Given the description of an element on the screen output the (x, y) to click on. 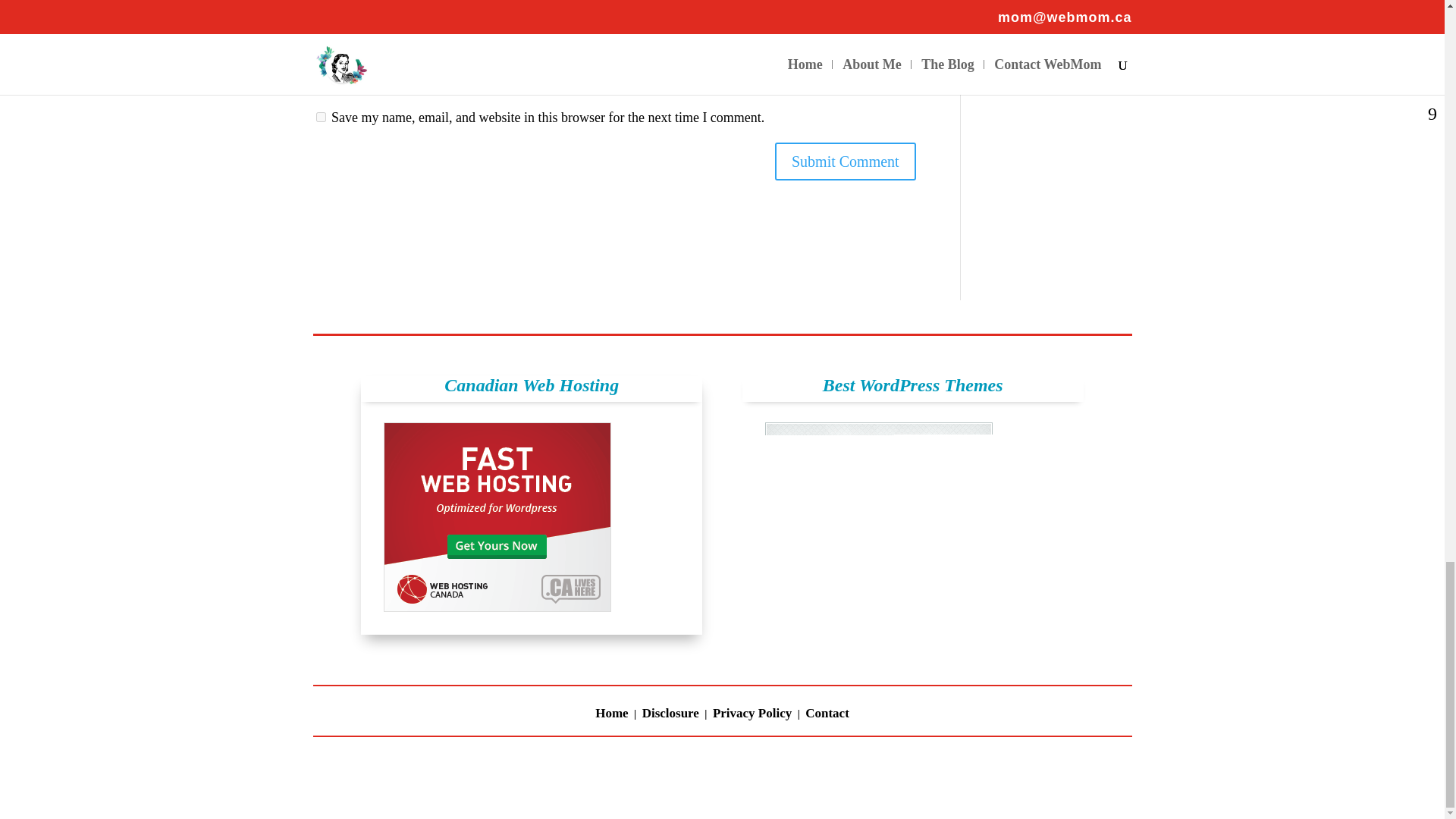
yes (319, 117)
Home (611, 716)
Submit Comment (844, 161)
Contact (826, 716)
Privacy Policy (752, 716)
Disclosure (670, 716)
Submit Comment (844, 161)
